Given the description of an element on the screen output the (x, y) to click on. 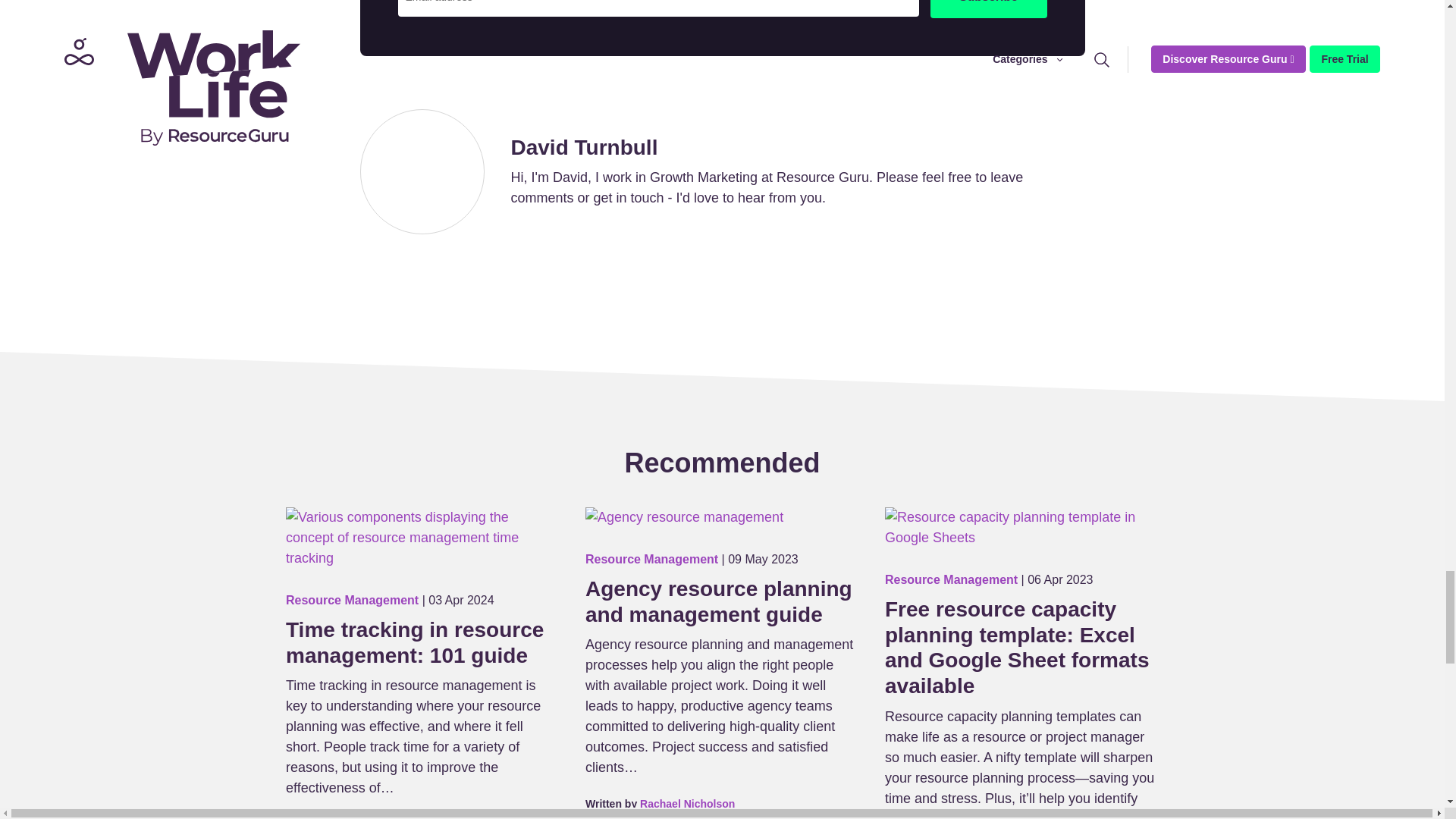
Subscribe (988, 9)
